Given the description of an element on the screen output the (x, y) to click on. 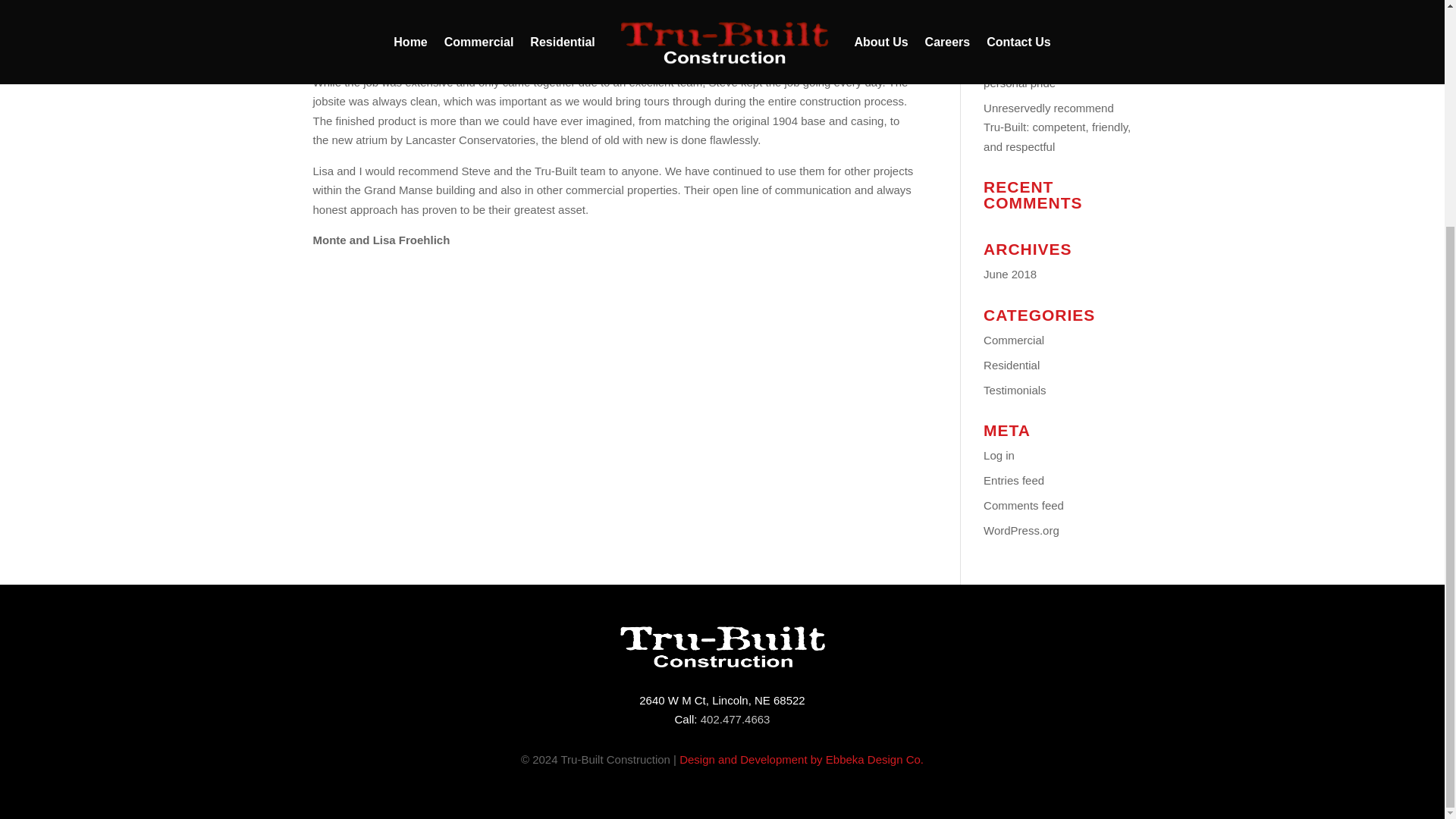
June 2018 (1010, 273)
Log in (999, 454)
Entries feed (1013, 480)
WordPress.org (1021, 530)
Commercial (1013, 339)
402.477.4663 (735, 718)
Design and Development by Ebbeka Design Co. (801, 758)
Testimonials (1015, 390)
Comments feed (1024, 504)
